Given the description of an element on the screen output the (x, y) to click on. 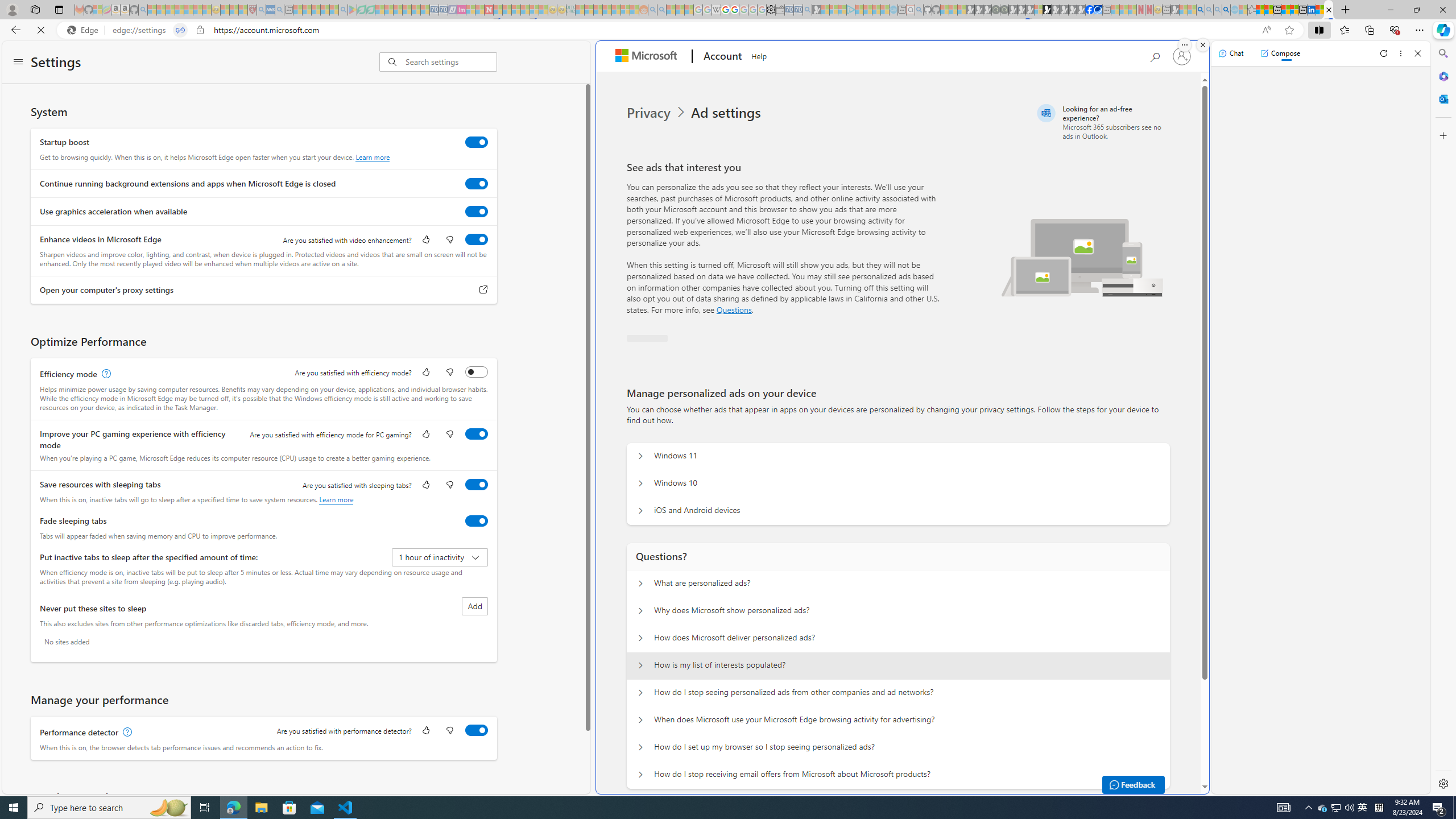
google - Search - Sleeping (342, 9)
Sign in to your account (1181, 55)
Help (758, 54)
Account (721, 56)
Illustration of multiple devices (1082, 256)
